Given the description of an element on the screen output the (x, y) to click on. 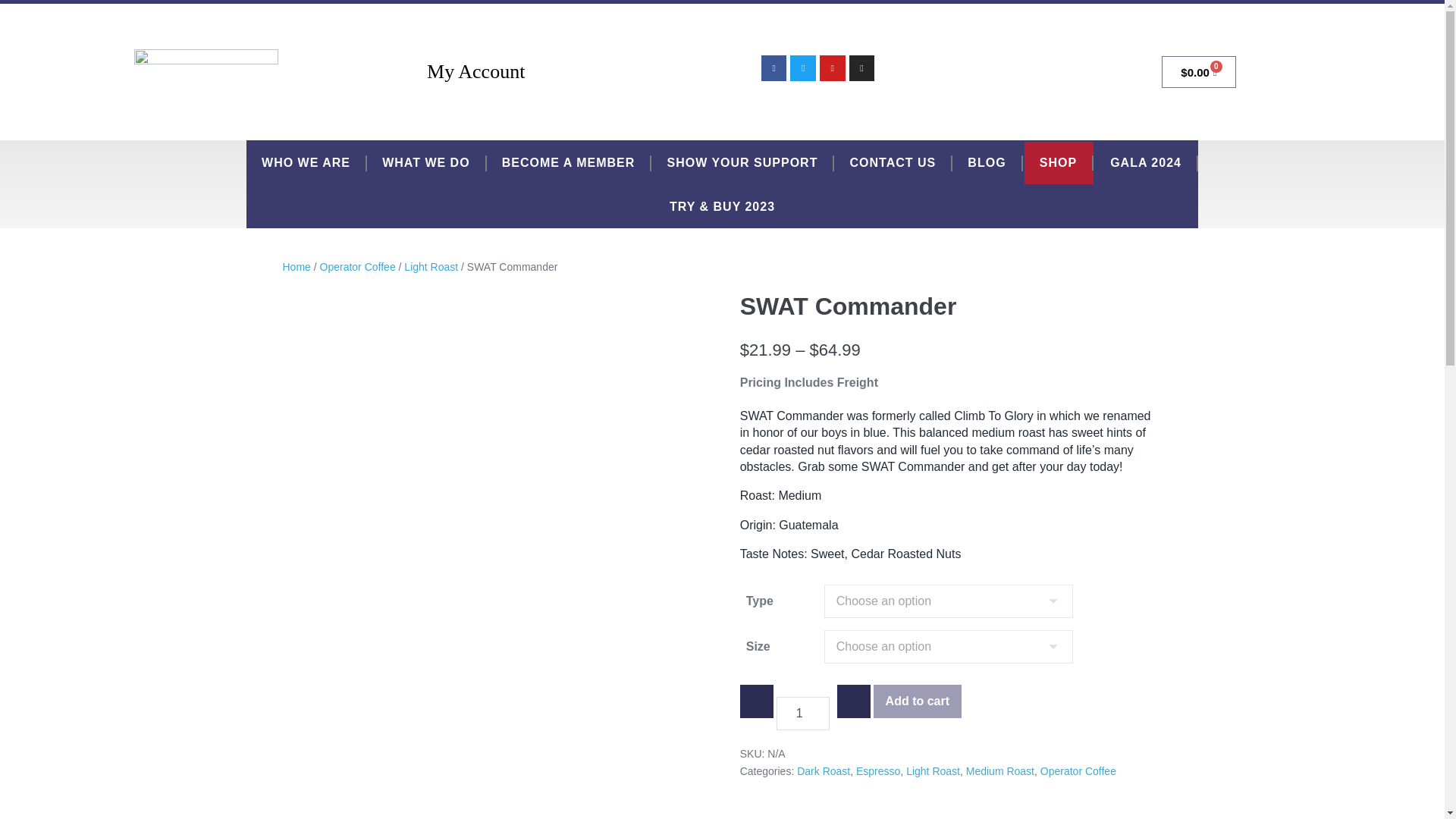
Qty (802, 712)
GALA 2024 (1145, 162)
CONTACT US (892, 162)
My Account (475, 71)
Add to cart (916, 700)
BECOME A MEMBER (568, 162)
Light Roast (431, 266)
BLOG (986, 162)
Operator Coffee (358, 266)
WHAT WE DO (425, 162)
